Given the description of an element on the screen output the (x, y) to click on. 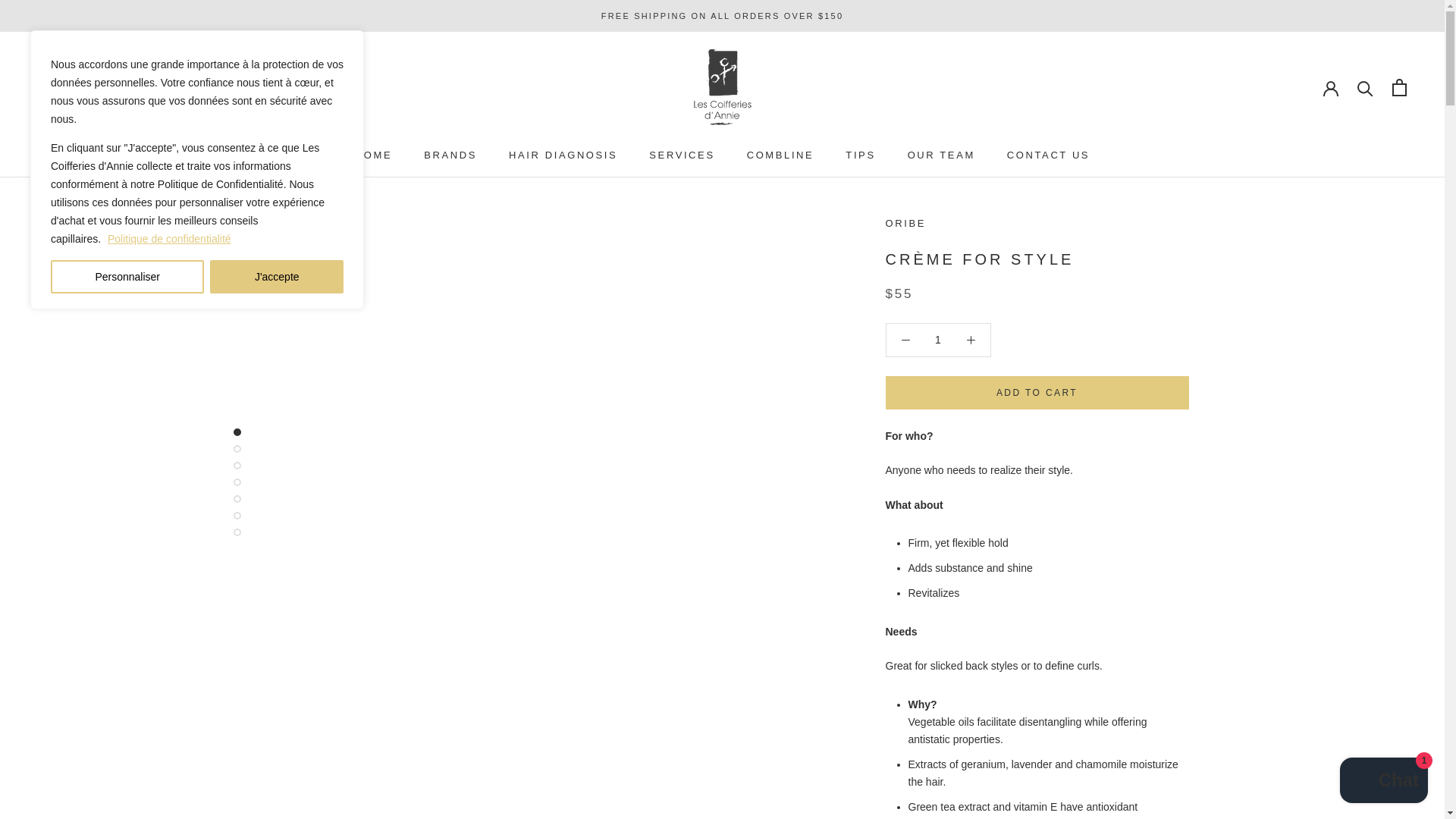
1 (938, 339)
J'accepte (276, 276)
Shopify online store chat (1383, 781)
Personnaliser (126, 276)
